Given the description of an element on the screen output the (x, y) to click on. 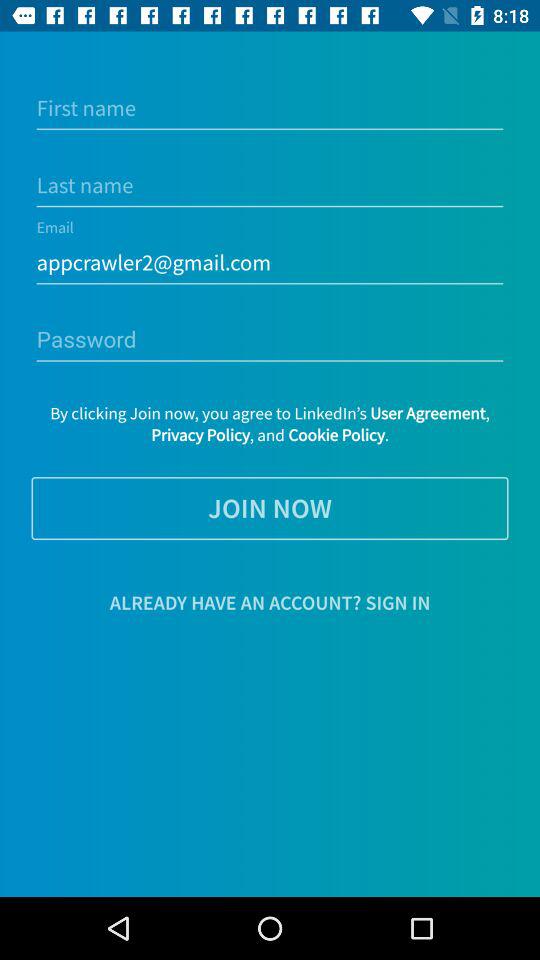
swipe to the appcrawler2@gmail.com (269, 262)
